Given the description of an element on the screen output the (x, y) to click on. 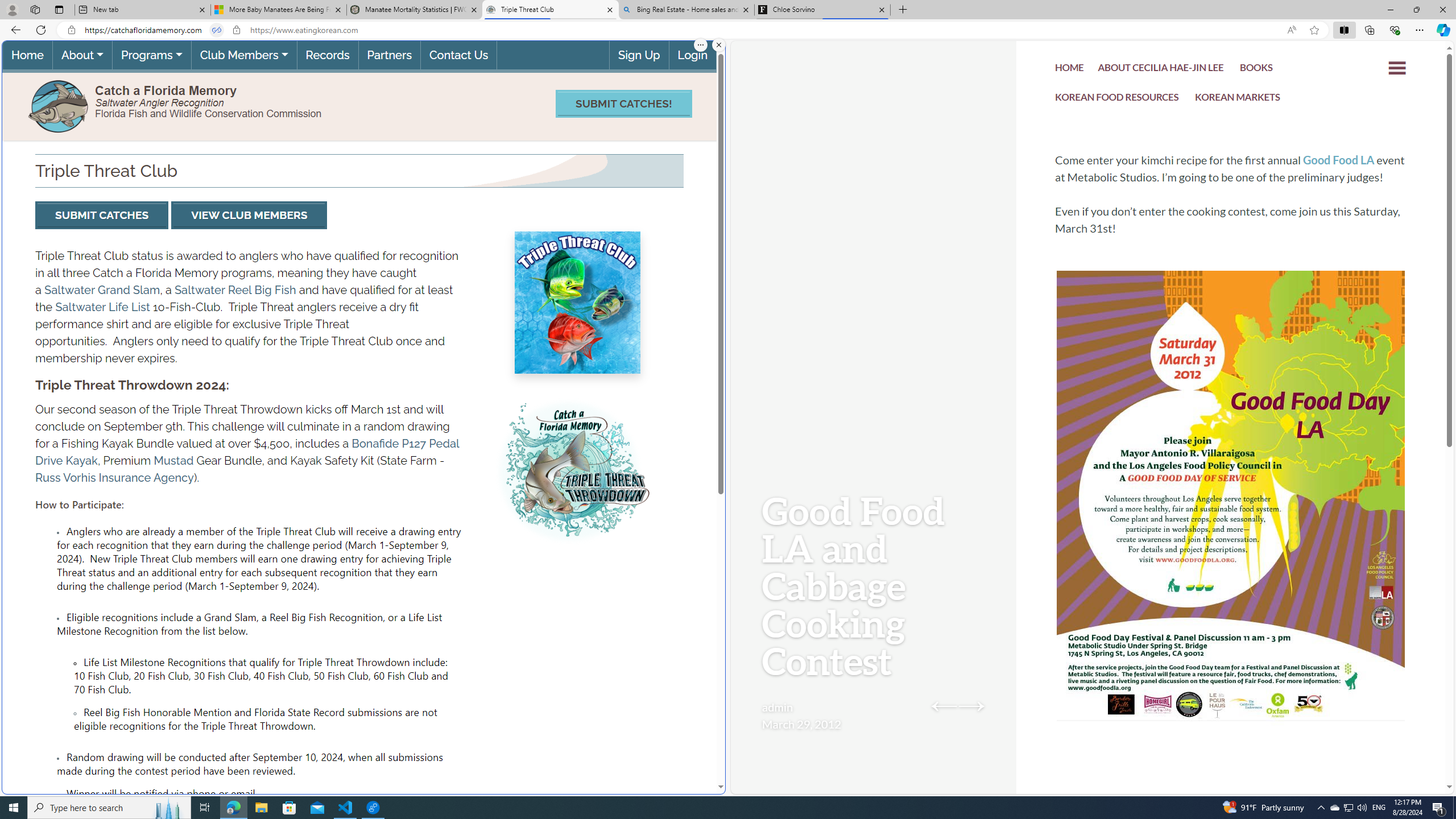
Triple Threat Club (550, 9)
HOME (1069, 68)
ABOUT CECILIA HAE-JIN LEE (1160, 68)
Home(current) (27, 54)
Catch A Florida Memory Logo (58, 104)
Personal Profile (12, 9)
HOME (1069, 70)
admin (777, 707)
Saltwater Reel Big Fish (235, 289)
ABOUT CECILIA HAE-JIN LEE (1160, 70)
Browser essentials (1394, 29)
Copilot (Ctrl+Shift+.) (1442, 29)
